Given the description of an element on the screen output the (x, y) to click on. 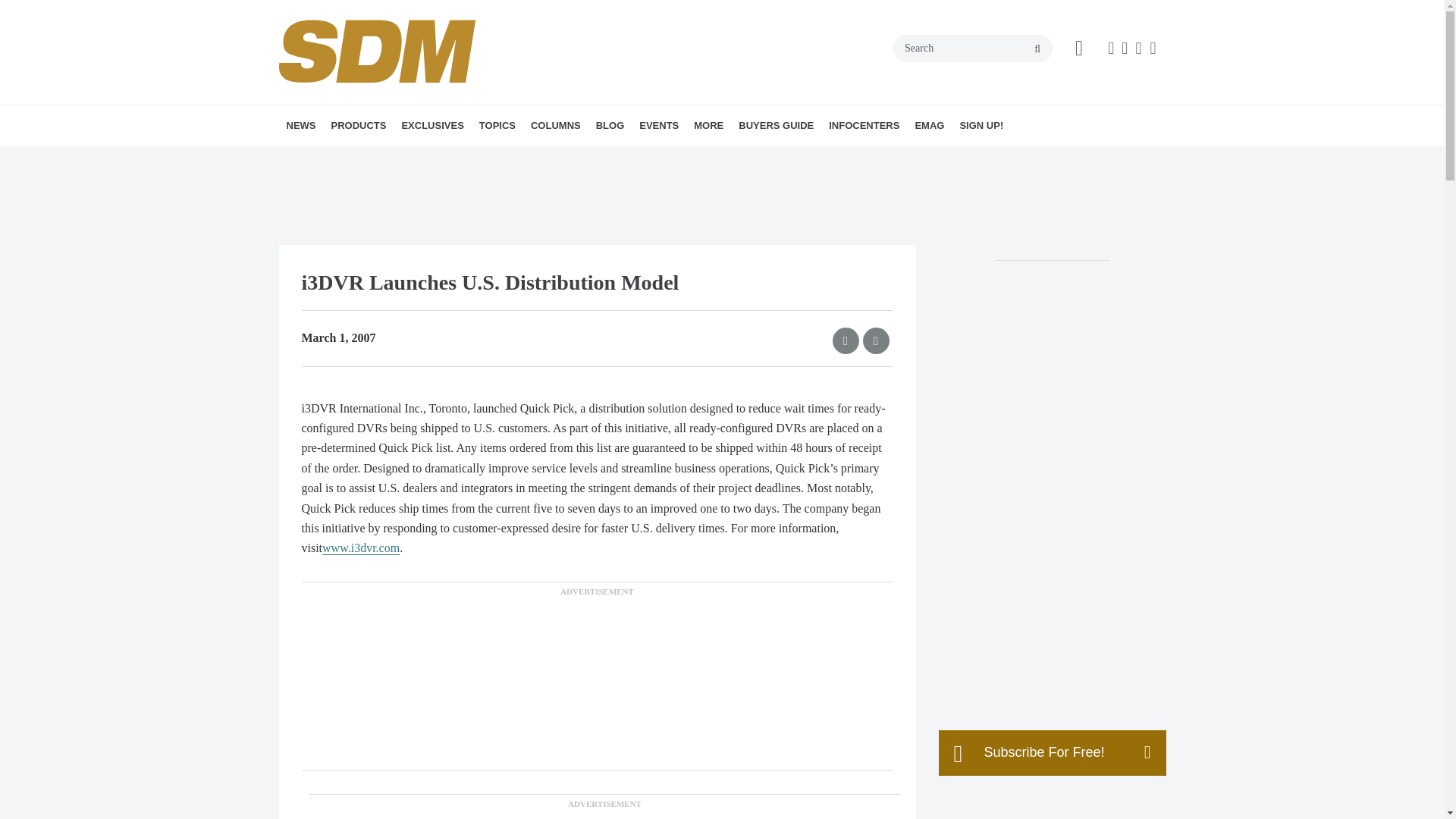
TOP SYSTEMS INTEGRATOR REPORT (496, 167)
MARKETING MADMEN (641, 158)
ANNUAL INDUSTRY FORECAST (504, 158)
search (1037, 49)
DIGITAL SHUFFLE (617, 158)
SMART HOME (587, 158)
PROJECT OF THE YEAR (524, 158)
COLUMNS (555, 125)
MORE SDM TOPICS (592, 158)
STATE OF THE MARKET SERIES (510, 158)
